Given the description of an element on the screen output the (x, y) to click on. 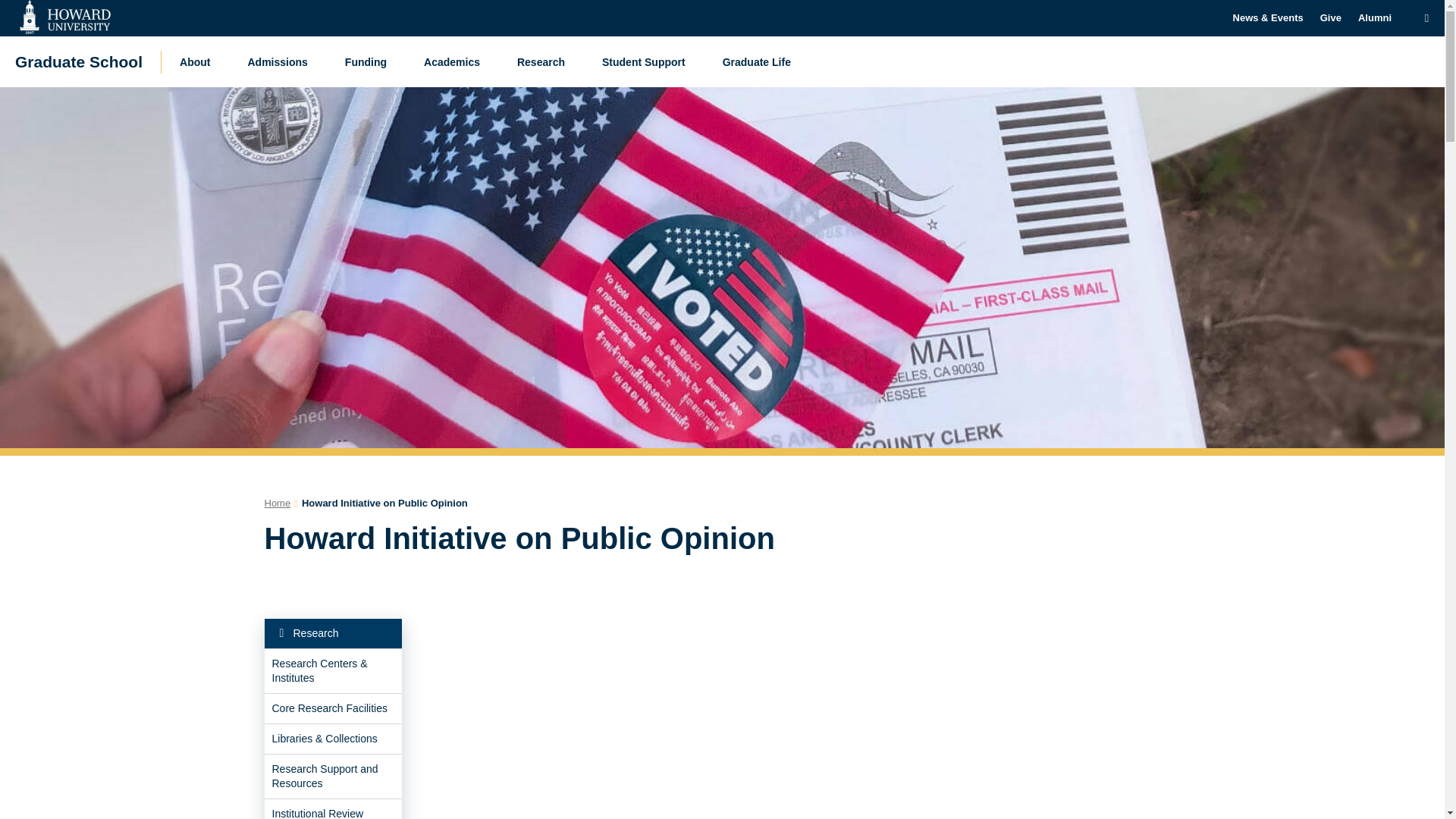
Alumni (1374, 17)
Admissions (281, 61)
Academics (455, 61)
Funding (369, 61)
About (198, 61)
Give (1330, 17)
Graduate School (78, 61)
